Given the description of an element on the screen output the (x, y) to click on. 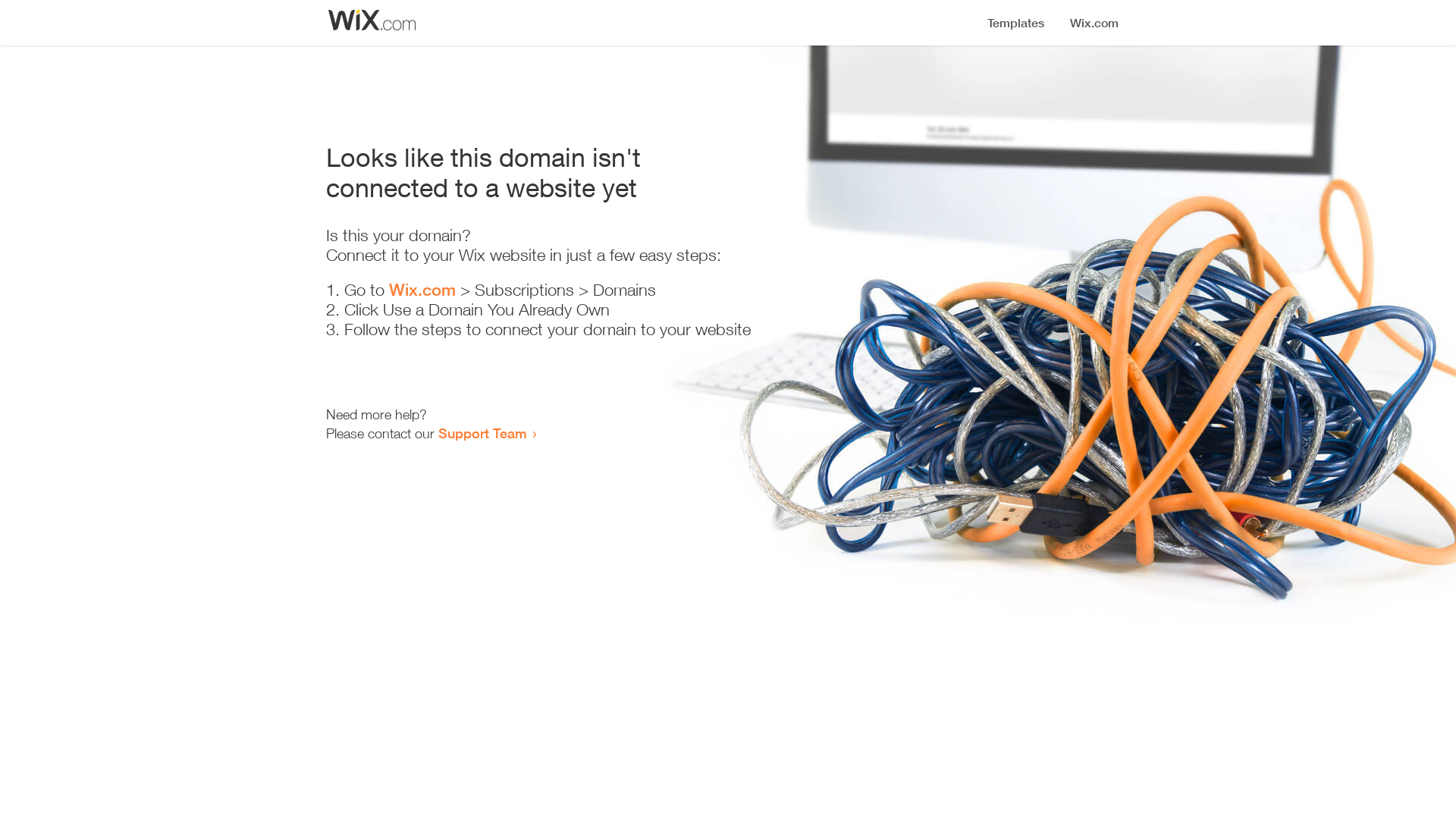
Wix.com Element type: text (422, 289)
Support Team Element type: text (482, 432)
